Given the description of an element on the screen output the (x, y) to click on. 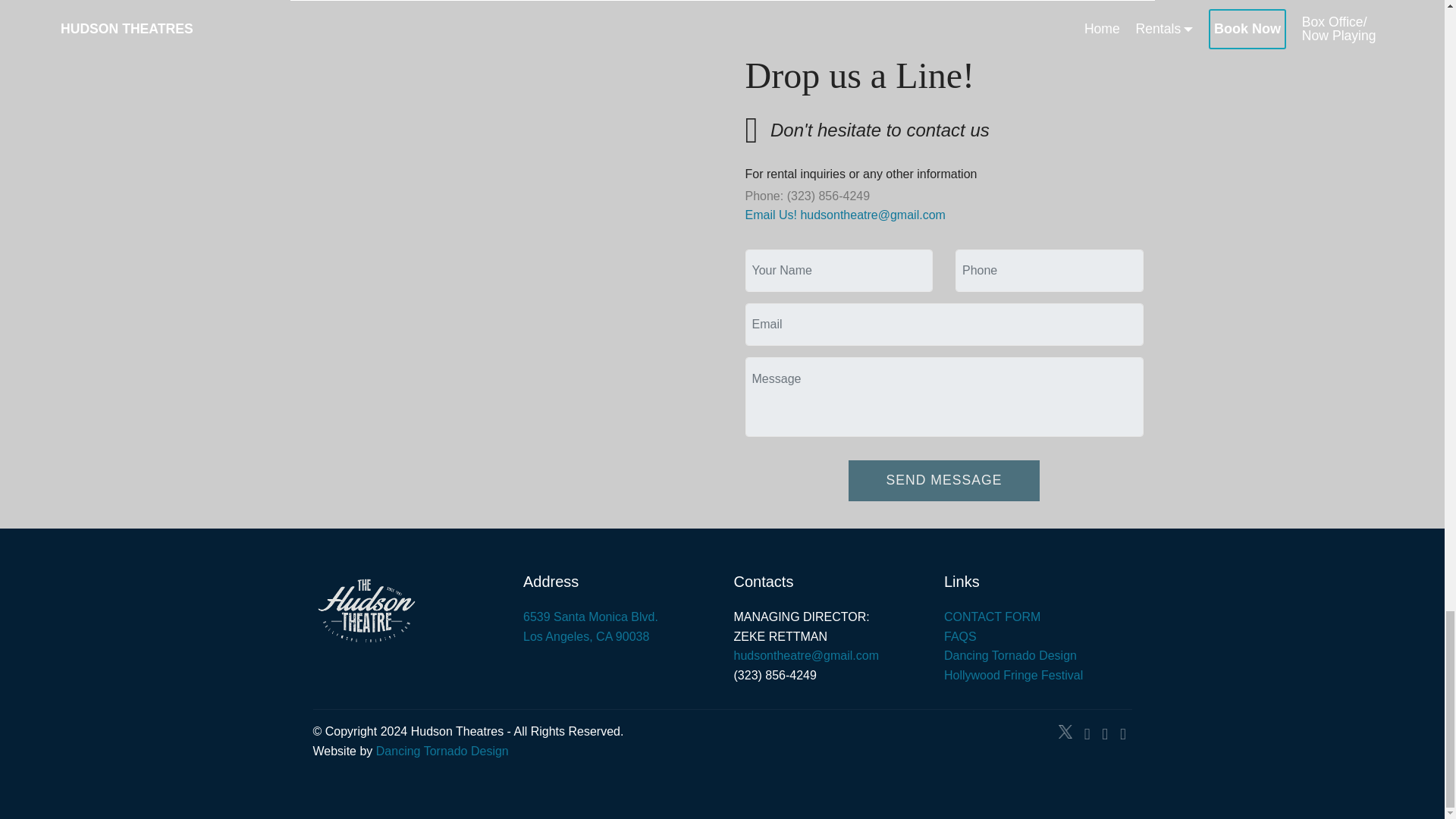
Dancing Tornado Design (441, 750)
CONTACT FORM (992, 616)
Hollywood Fringe Festival (1013, 675)
SEND MESSAGE (944, 480)
Dancing Tornado Design (590, 626)
FAQS (1010, 655)
